Given the description of an element on the screen output the (x, y) to click on. 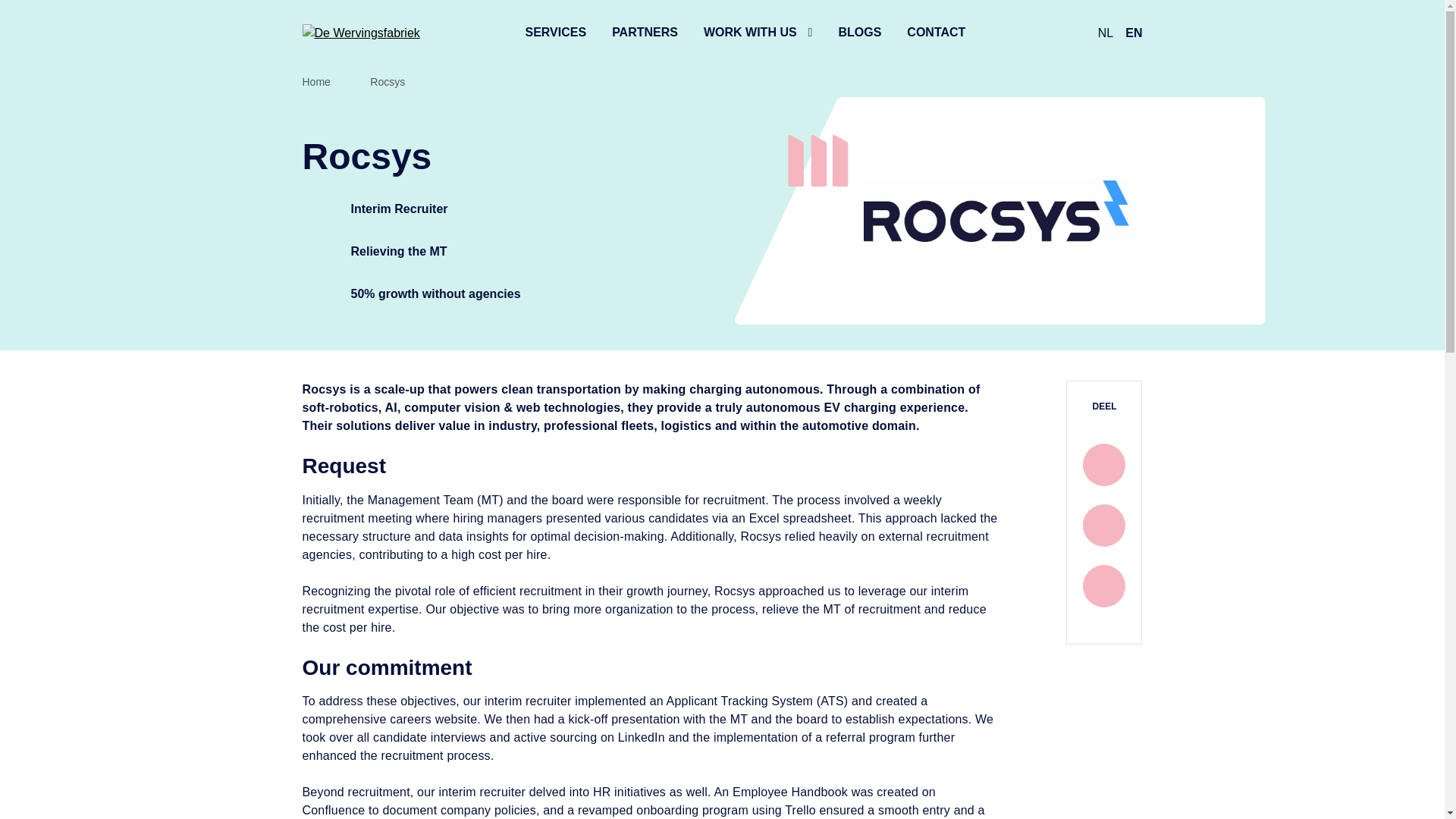
CONTACT (936, 31)
PARTNERS (644, 31)
WORK WITH US (757, 31)
NL (1105, 32)
SERVICES (555, 31)
NL (1105, 32)
EN (1133, 32)
Home (315, 81)
BLOGS (859, 31)
EN (1133, 32)
